Given the description of an element on the screen output the (x, y) to click on. 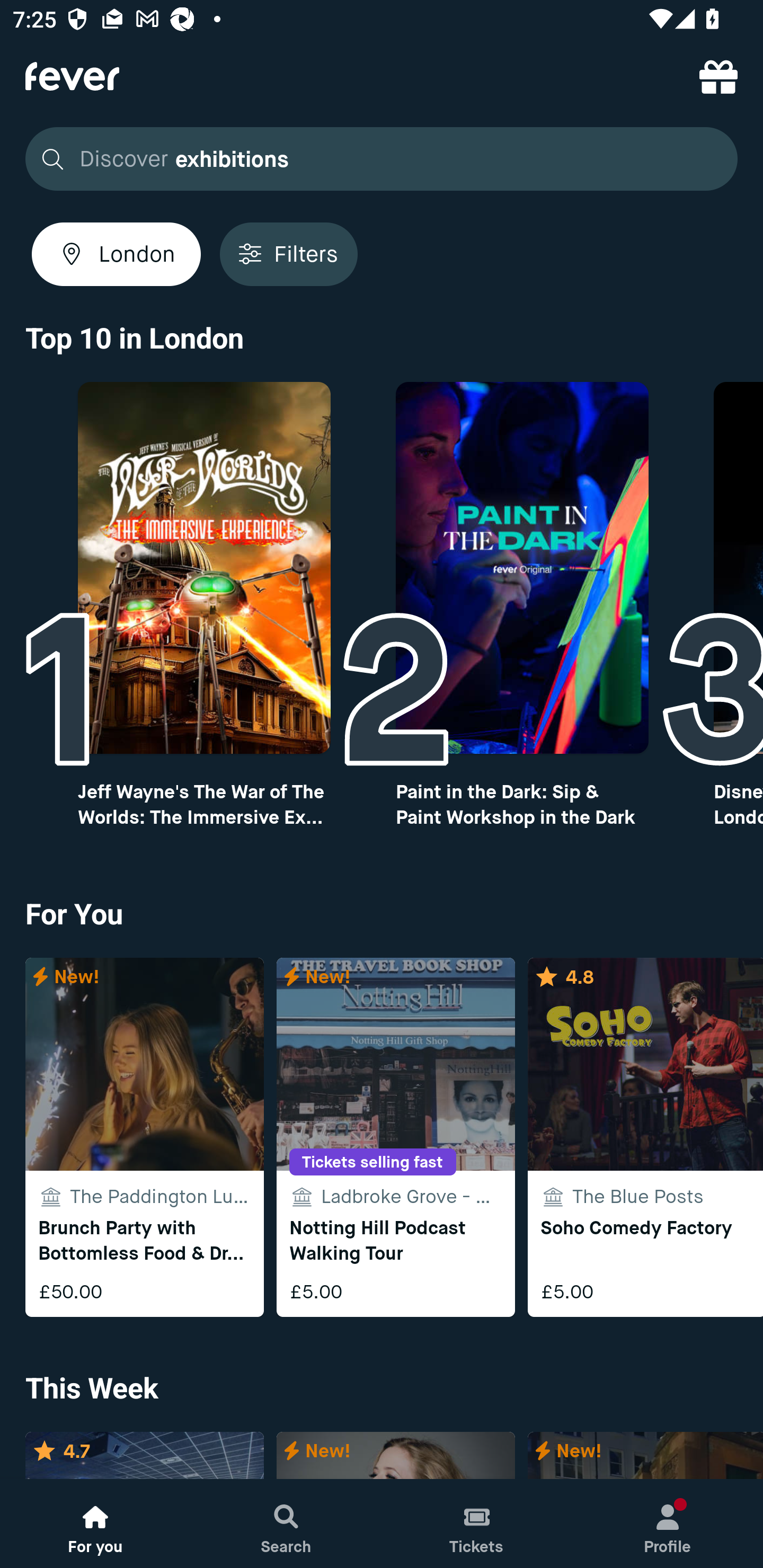
referral (718, 75)
Discover exhibitions (381, 158)
Discover exhibitions (376, 158)
London (116, 253)
Filters (288, 253)
Top10 image (203, 568)
Top10 image (521, 568)
Search (285, 1523)
Tickets (476, 1523)
Profile, New notification Profile (667, 1523)
